Given the description of an element on the screen output the (x, y) to click on. 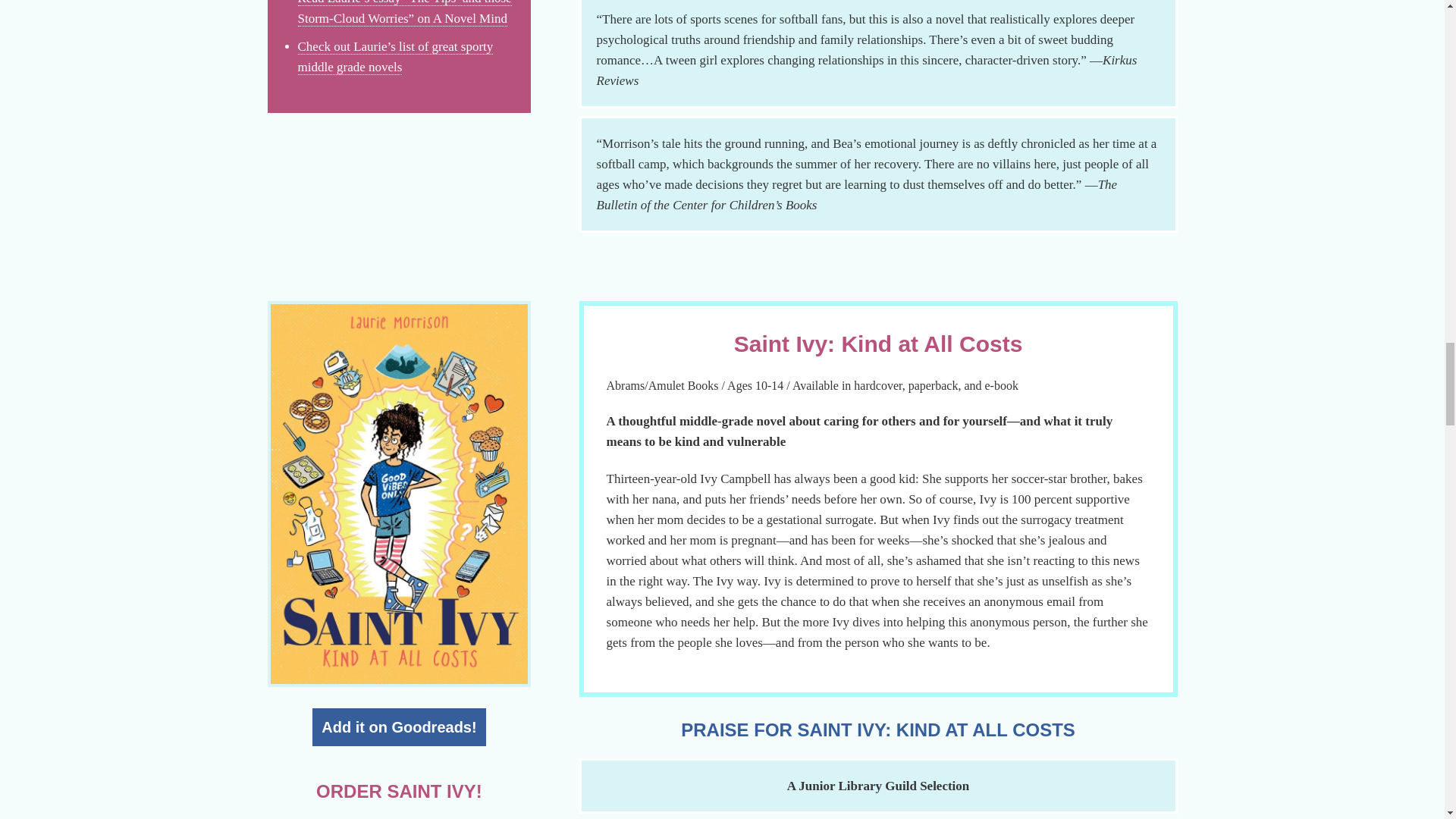
Add it on Goodreads! (398, 727)
